Given the description of an element on the screen output the (x, y) to click on. 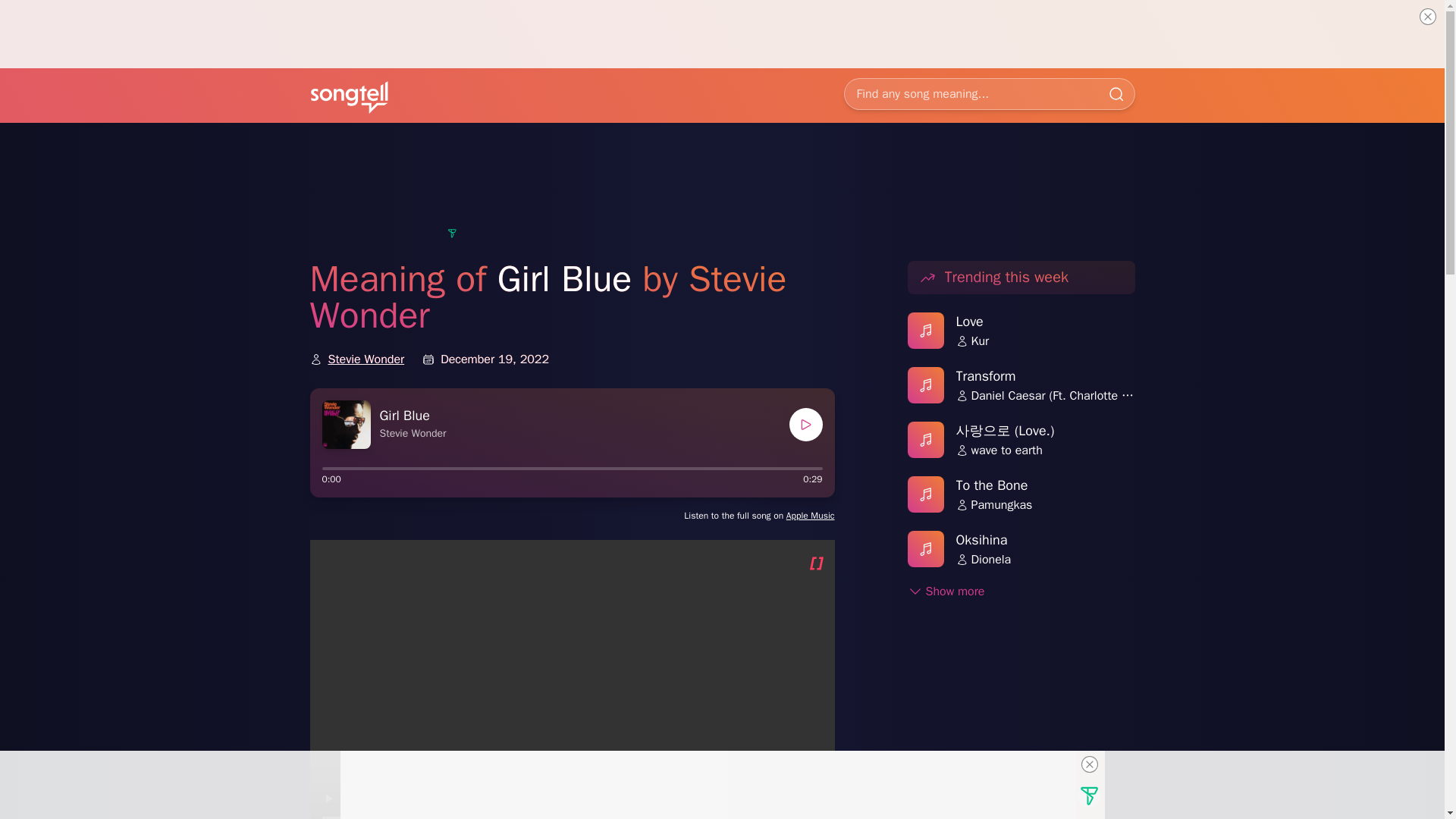
Stevie Wonder (365, 359)
3rd party ad content (707, 785)
Listen to the full song on Apple Music (759, 515)
3rd party ad content (721, 33)
3rd party ad content (721, 190)
3rd party ad content (1020, 730)
